Given the description of an element on the screen output the (x, y) to click on. 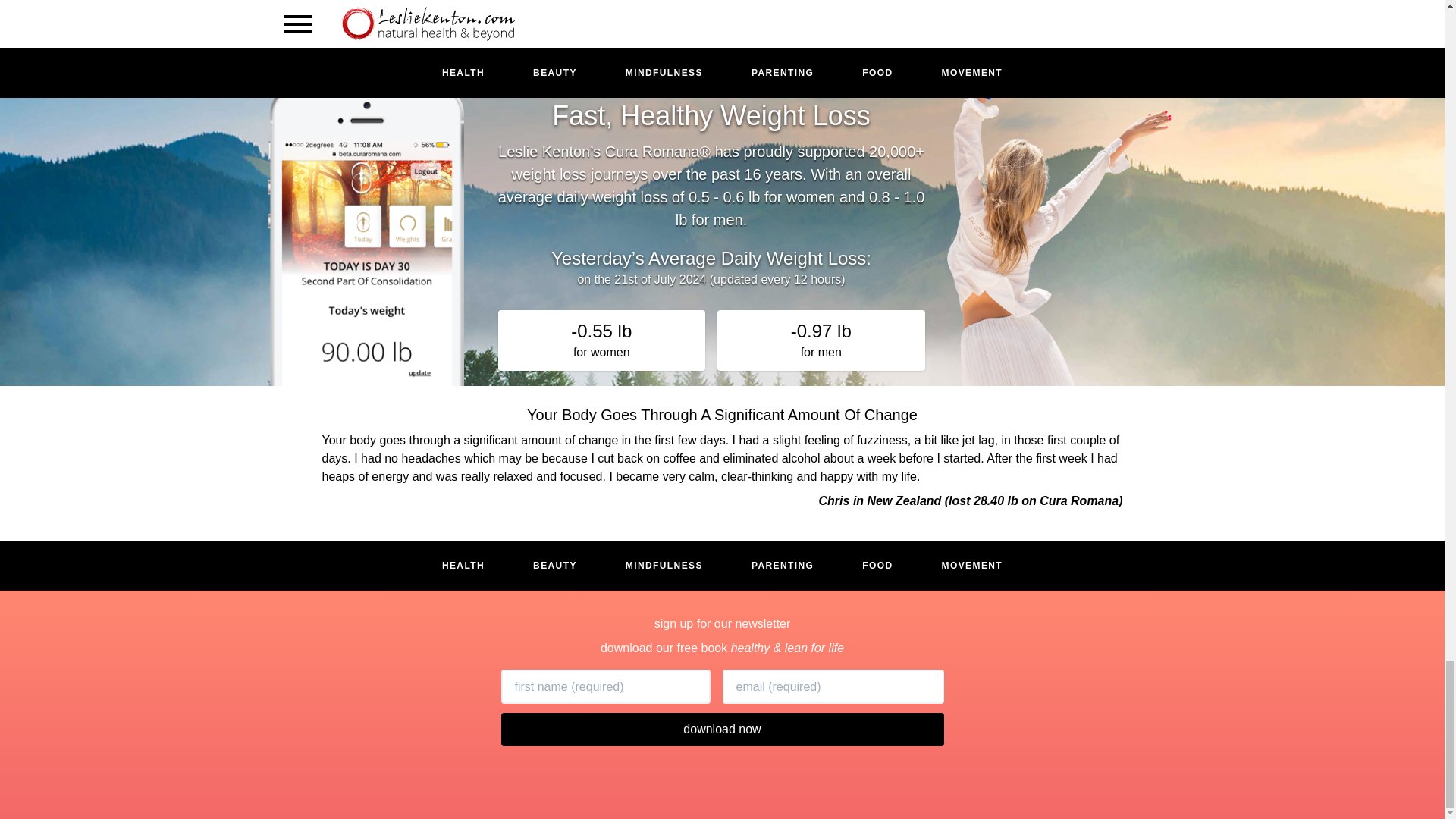
PARENTING (782, 565)
MINDFULNESS (663, 565)
MOVEMENT (972, 565)
download now (721, 729)
BEAUTY (554, 565)
FOOD (877, 565)
HEALTH (462, 565)
